Given the description of an element on the screen output the (x, y) to click on. 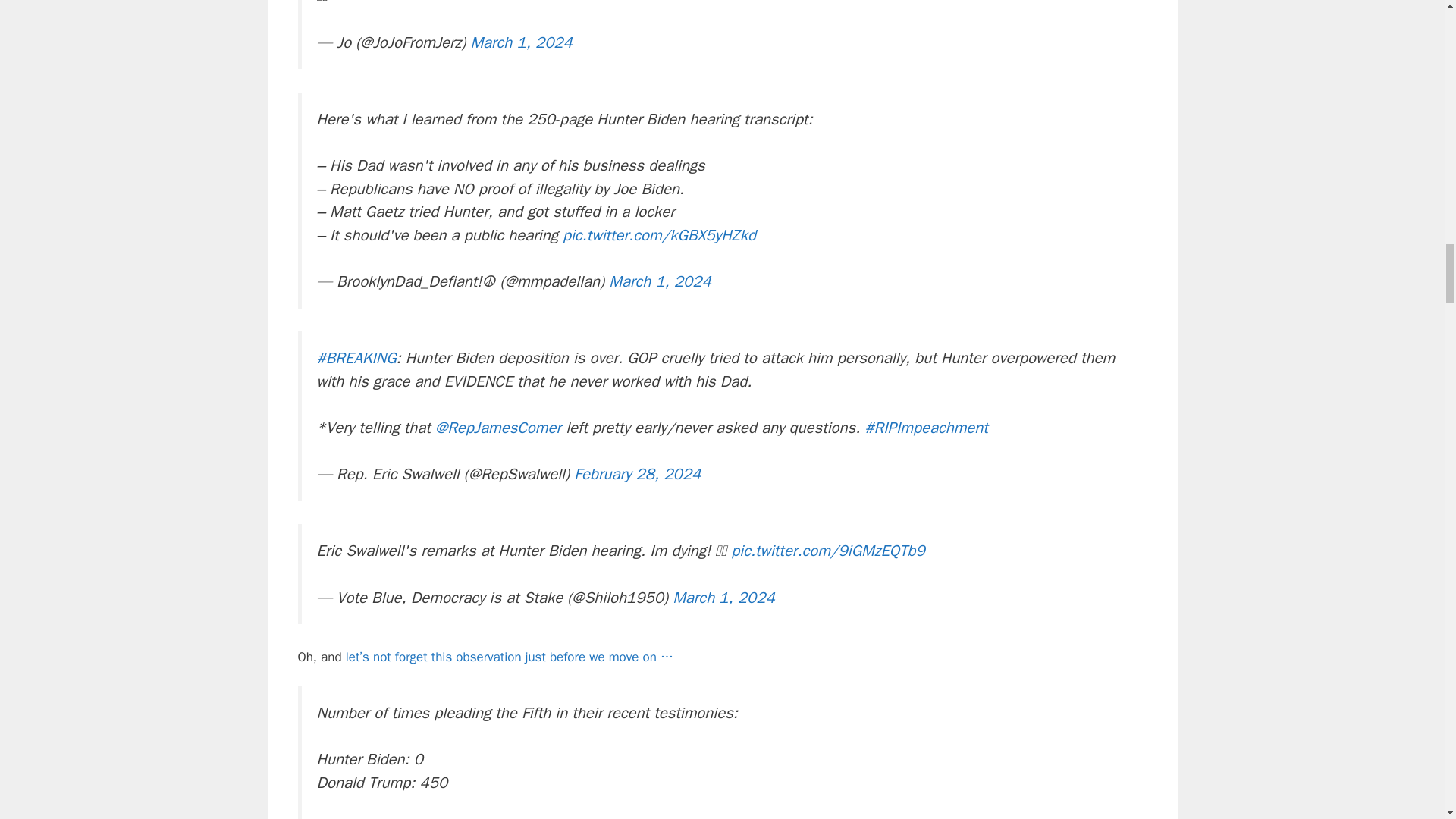
March 1, 2024 (659, 281)
March 1, 2024 (521, 42)
